Given the description of an element on the screen output the (x, y) to click on. 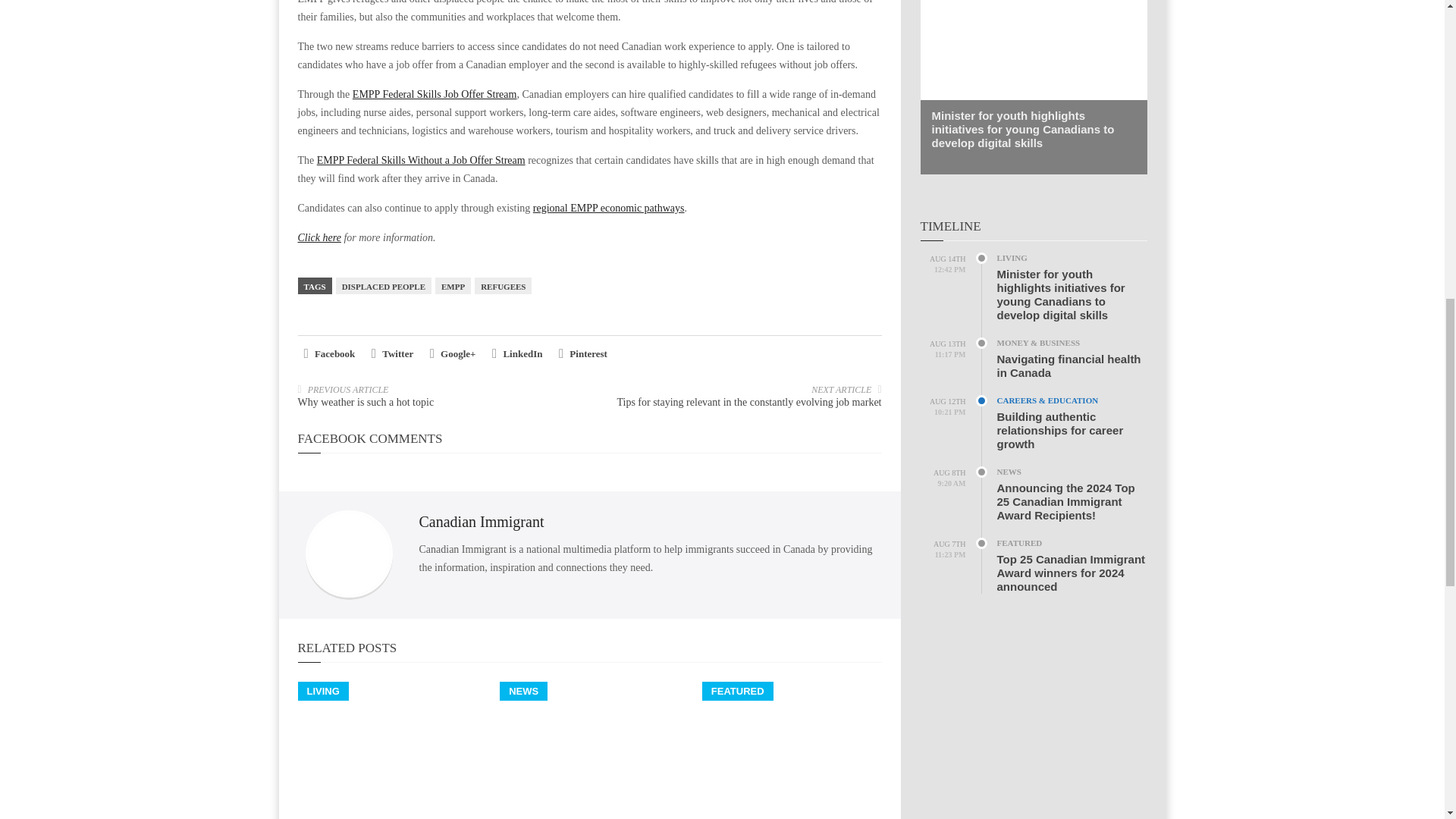
Posts by Canadian Immigrant (481, 521)
Why weather is such a hot topic (365, 401)
